Given the description of an element on the screen output the (x, y) to click on. 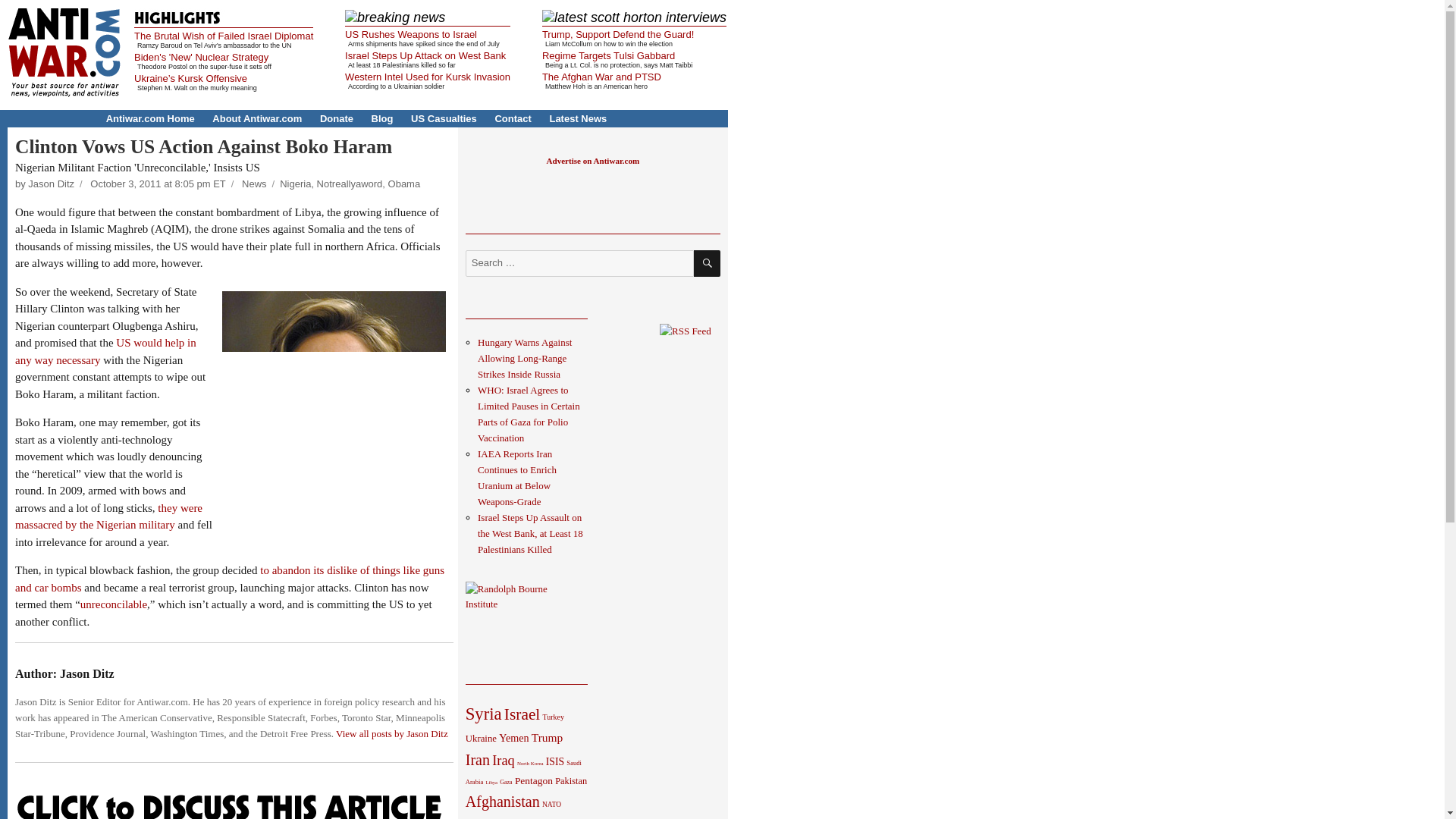
Antiwar.com Home (150, 118)
The Brutal Wish of Failed Israel Diplomat (223, 35)
Donate (336, 118)
Israel Steps Up Attack on West Bank (425, 55)
by Jason Ditz (44, 183)
Contact (513, 118)
US would help in any way necessary (105, 351)
US Casualties (443, 118)
Nigeria (295, 183)
Biden's 'New' Nuclear Strategy (200, 57)
